Given the description of an element on the screen output the (x, y) to click on. 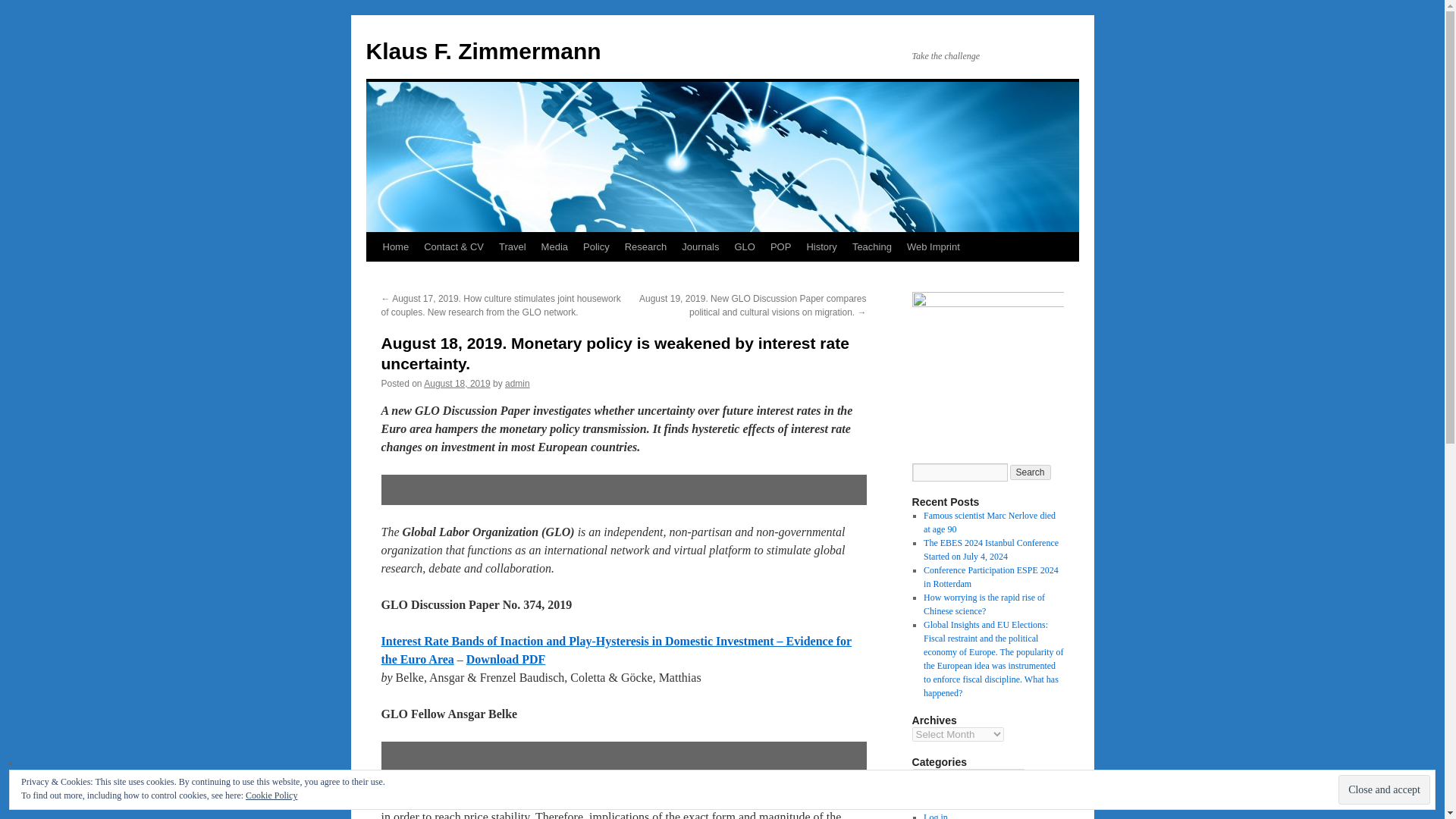
POP (779, 246)
GLO (743, 246)
admin (517, 383)
Media (554, 246)
6:00 am (456, 383)
View all posts by admin (517, 383)
Search (1030, 472)
August 18, 2019 (456, 383)
Klaus F. Zimmermann (482, 50)
Close and accept (1383, 789)
Travel (513, 246)
Teaching (871, 246)
Skip to content (372, 274)
Journals (700, 246)
History (820, 246)
